Given the description of an element on the screen output the (x, y) to click on. 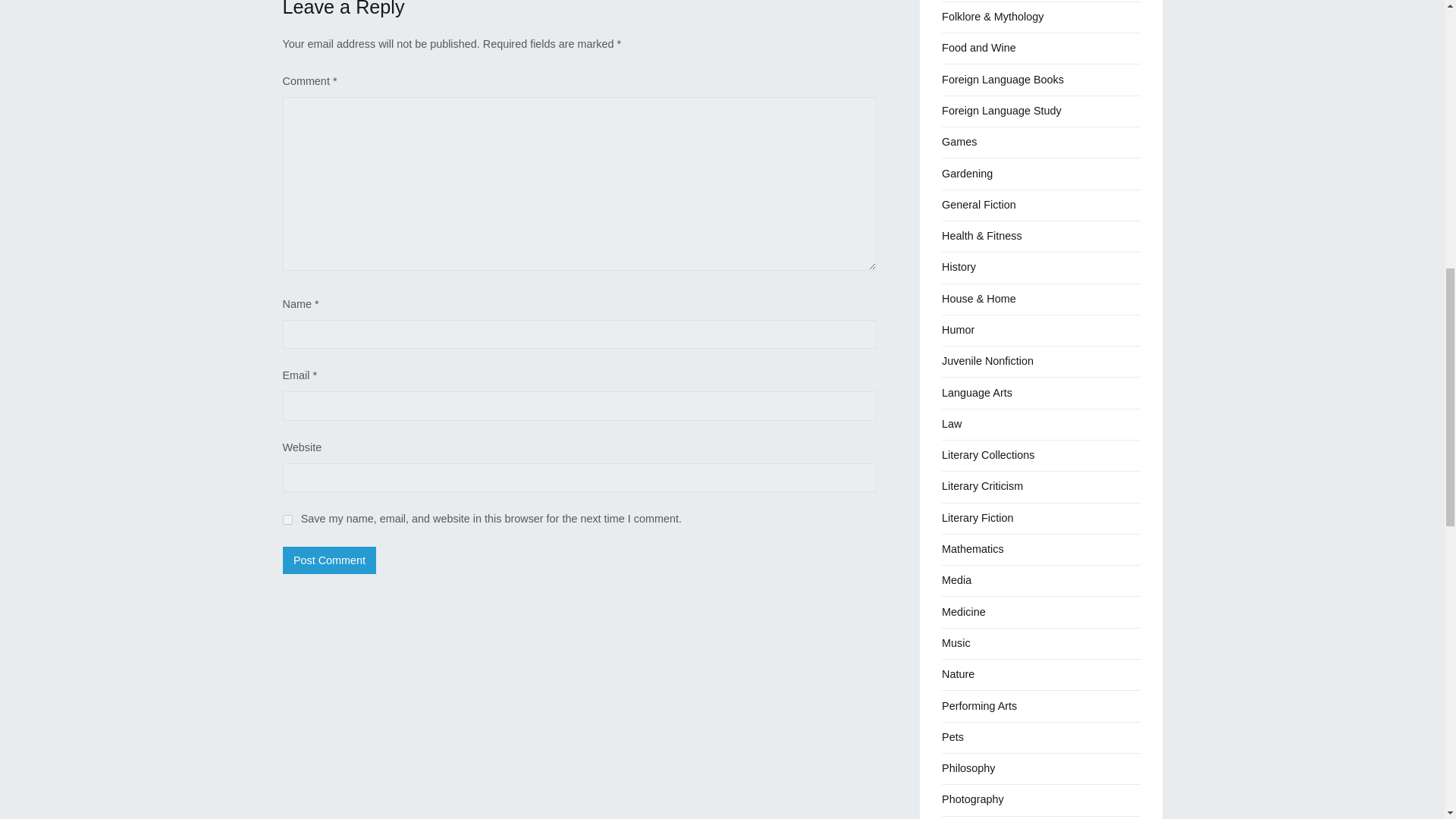
Post Comment (328, 560)
Fantasy (960, 0)
Post Comment (328, 560)
Food and Wine (979, 48)
yes (287, 519)
